Given the description of an element on the screen output the (x, y) to click on. 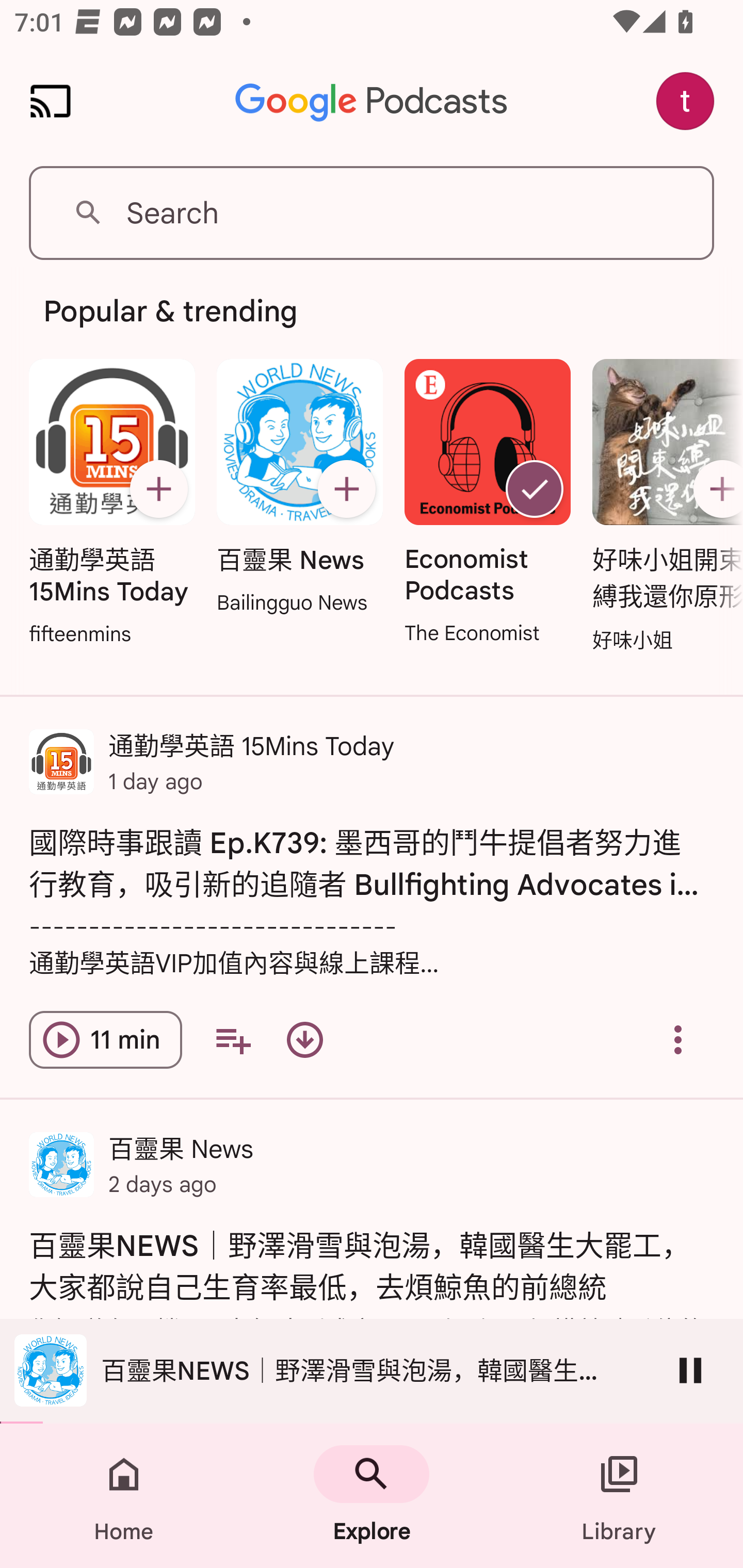
Cast. Disconnected (50, 101)
Search (371, 212)
百靈果 News Subscribe 百靈果 News Bailingguo News (299, 488)
好味小姐開束縛我還你原形 Subscribe 好味小姐開束縛我還你原形 好味小姐 (662, 507)
Subscribe (158, 489)
Subscribe (346, 489)
Unsubscribe (534, 489)
Subscribe (714, 489)
Add to your queue (232, 1040)
Download episode (304, 1040)
Overflow menu (677, 1040)
Pause (690, 1370)
Home (123, 1495)
Library (619, 1495)
